Given the description of an element on the screen output the (x, y) to click on. 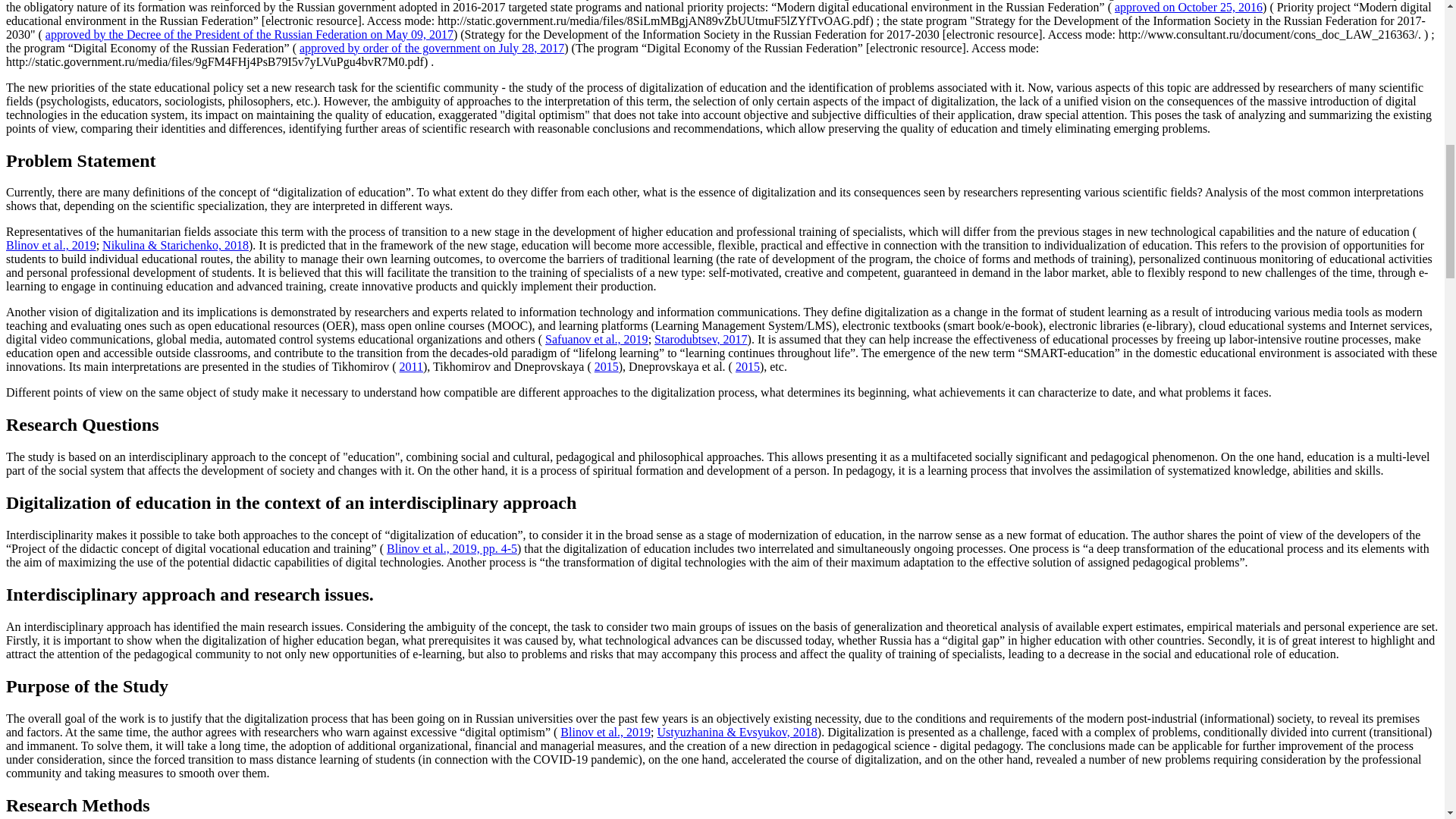
Blinov et al., 2019 (50, 245)
2015 (747, 366)
2015 (606, 366)
Starodubtsev, 2017 (700, 338)
Blinov et al., 2019, pp. 4-5 (451, 548)
Blinov et al., 2019 (605, 731)
2011 (410, 366)
approved by order of the government on July 28, 2017 (431, 47)
Safuanov et al., 2019 (595, 338)
approved on October 25, 2016 (1188, 6)
